Given the description of an element on the screen output the (x, y) to click on. 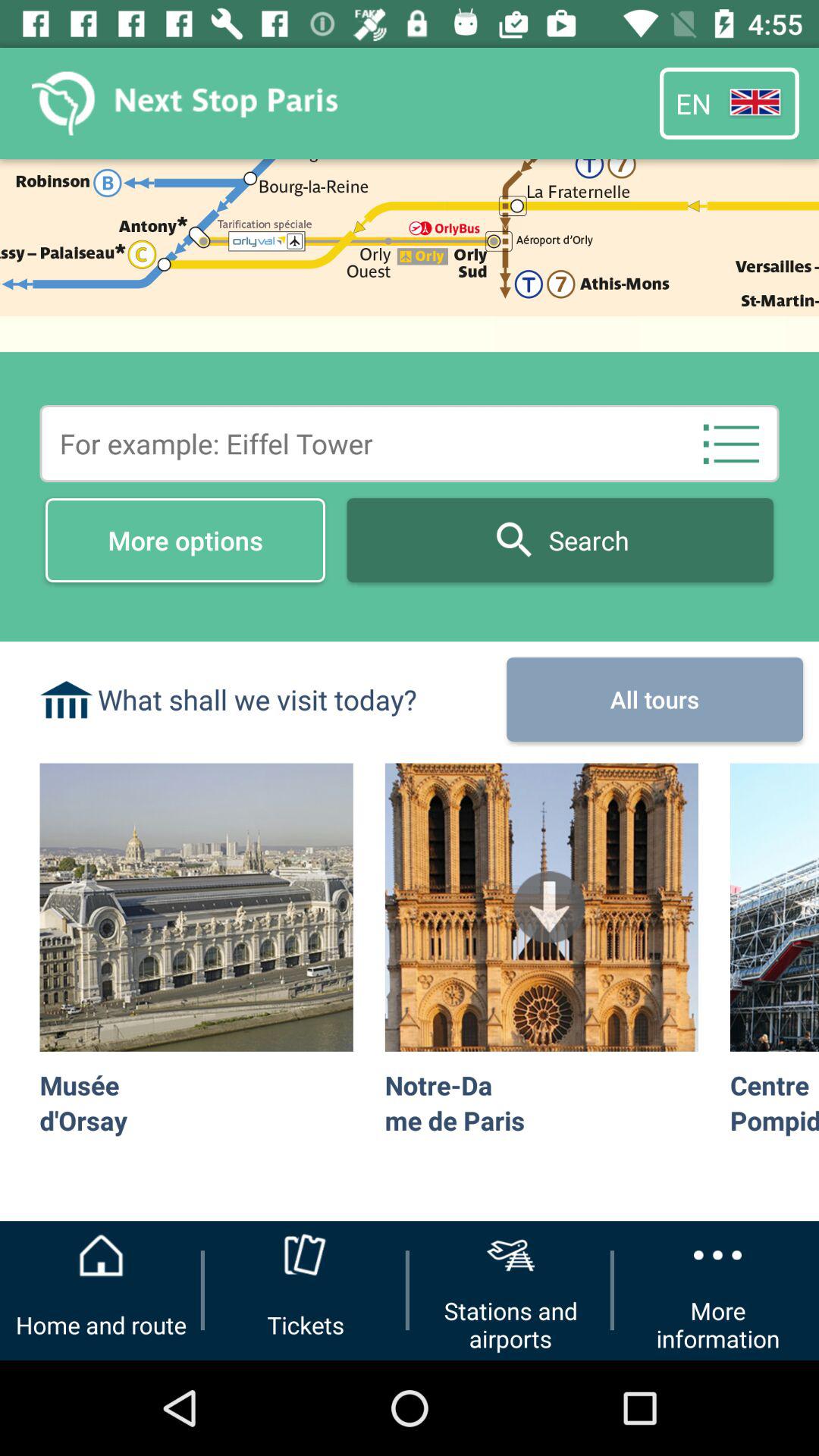
choose item above the what shall we item (185, 540)
